Given the description of an element on the screen output the (x, y) to click on. 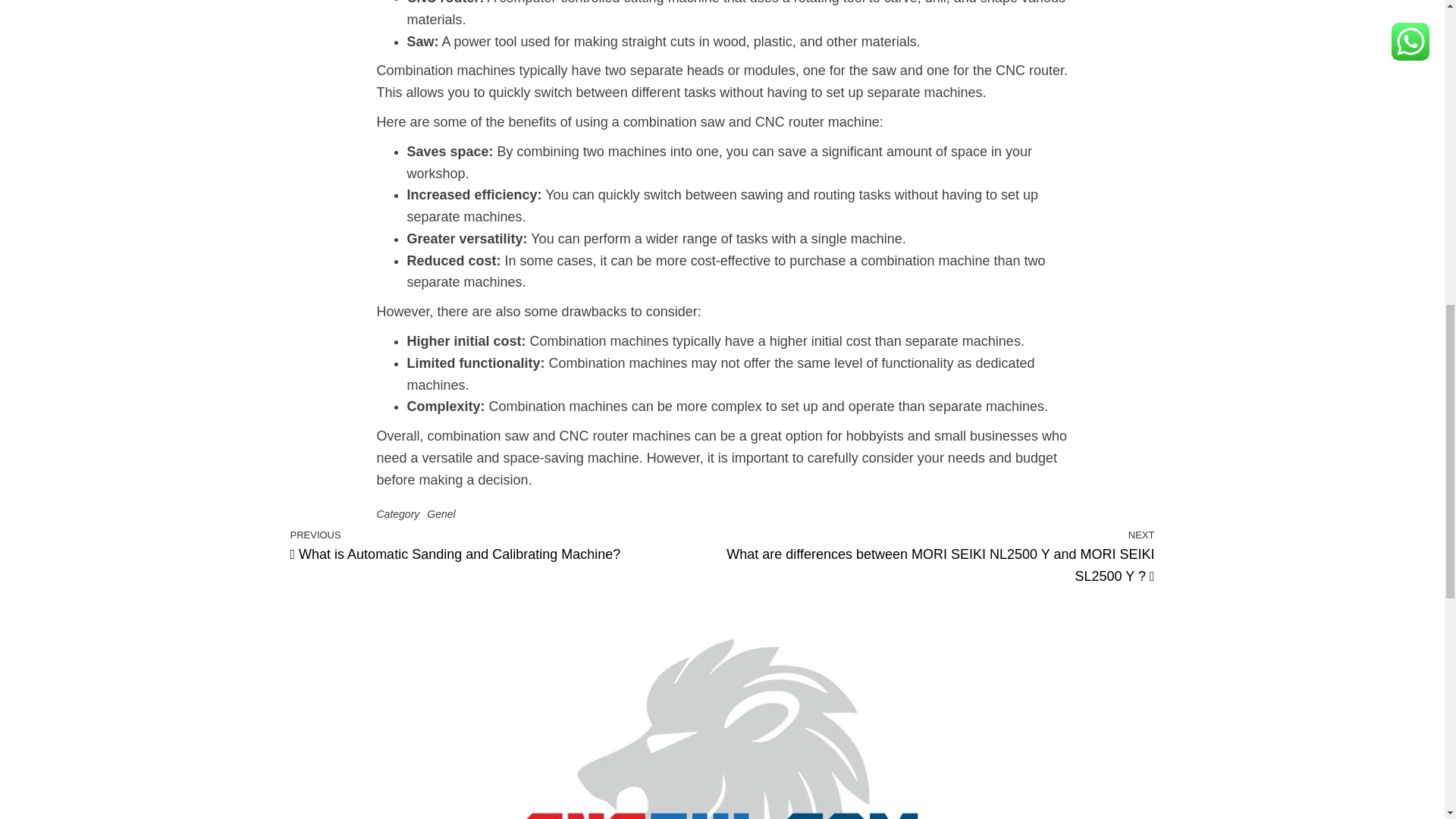
Genel (440, 513)
